Given the description of an element on the screen output the (x, y) to click on. 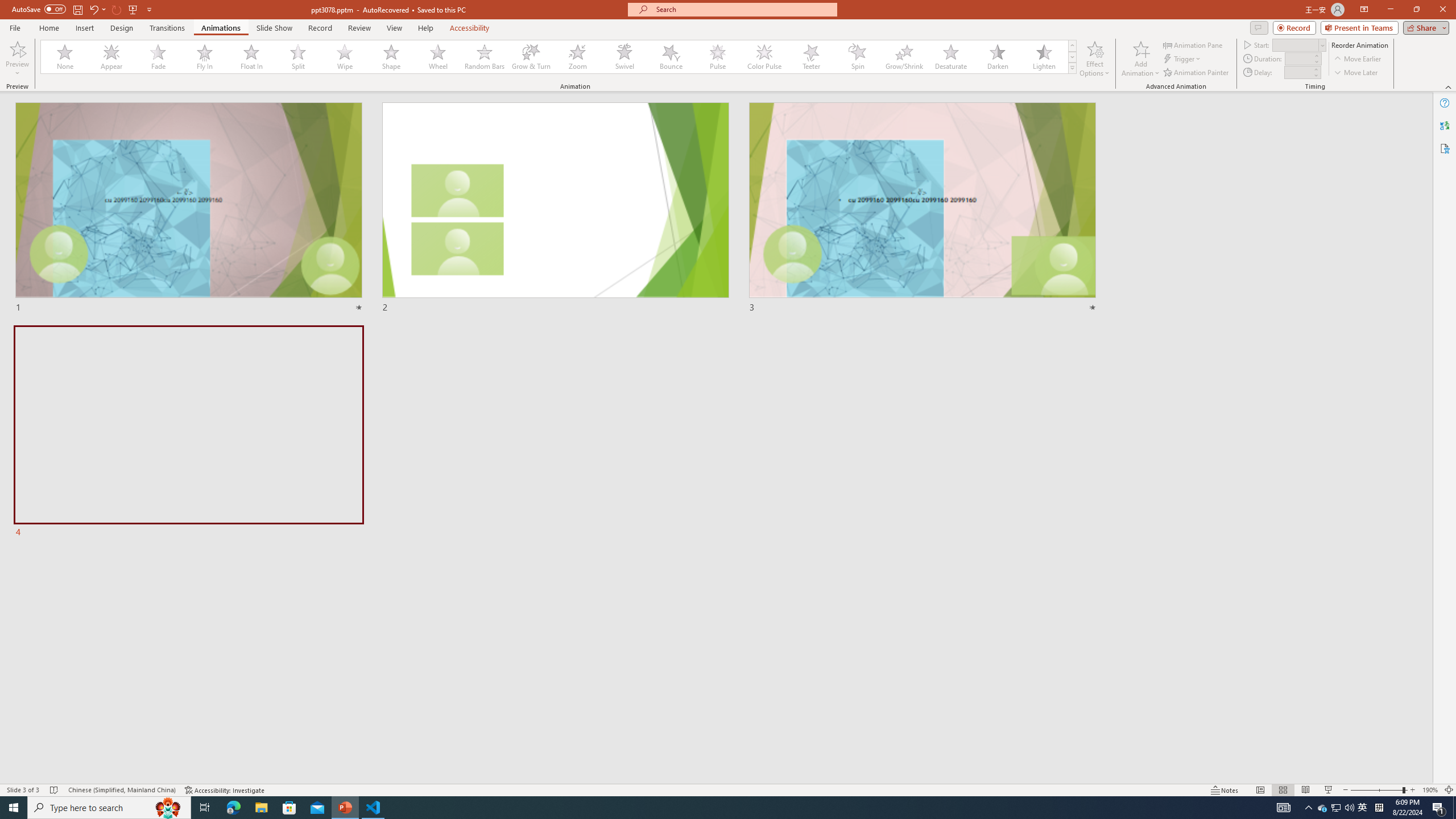
Wheel (437, 56)
Move Earlier (1357, 58)
